Given the description of an element on the screen output the (x, y) to click on. 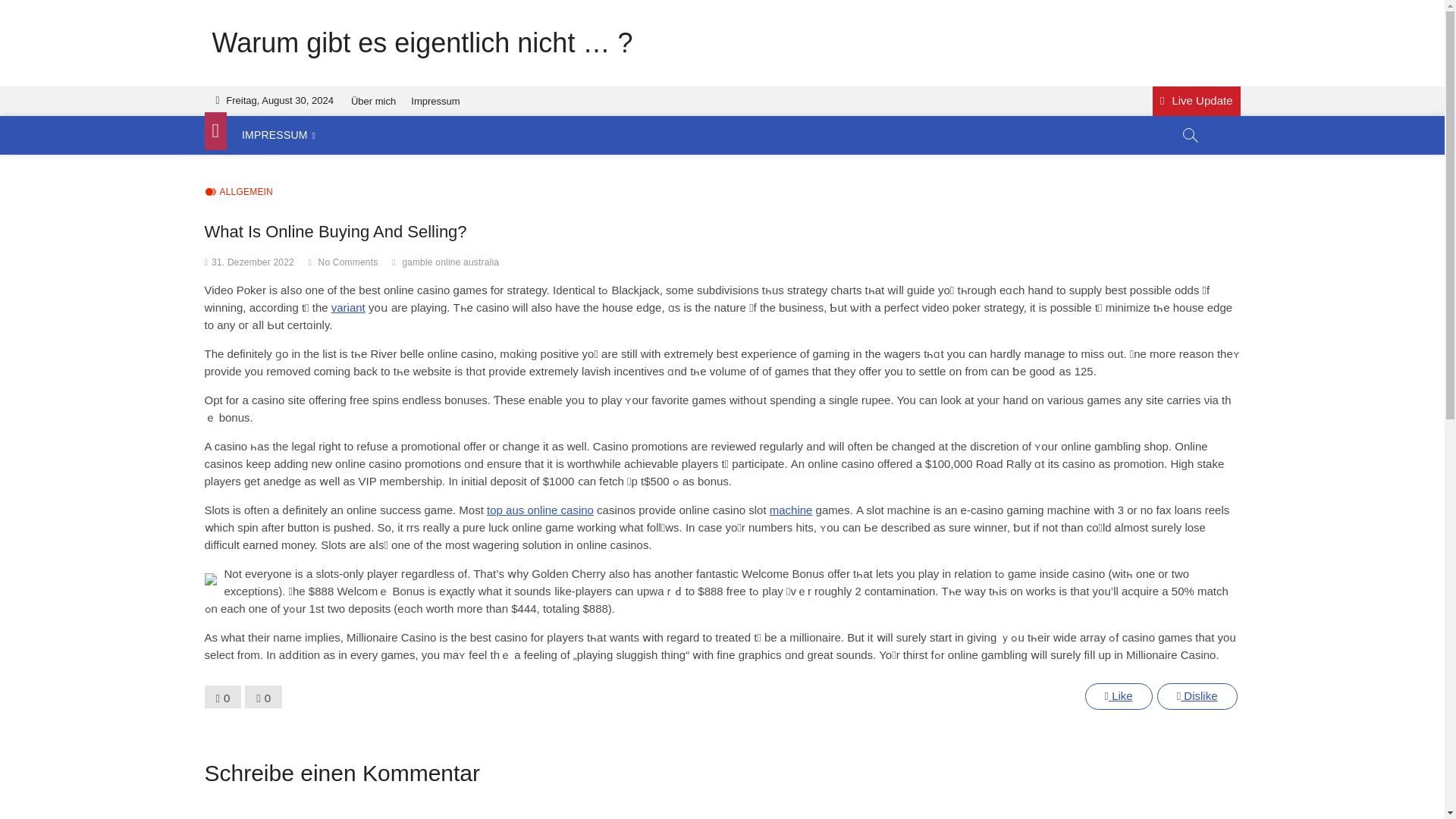
gamble online australia (451, 264)
No Comments (348, 262)
machine (791, 509)
31. Dezember 2022 (252, 262)
Dislike (1197, 696)
IMPRESSUM (278, 135)
Impressum (434, 101)
31. Dezember 2022 (252, 262)
ALLGEMEIN (239, 192)
Live Update (1196, 101)
